Given the description of an element on the screen output the (x, y) to click on. 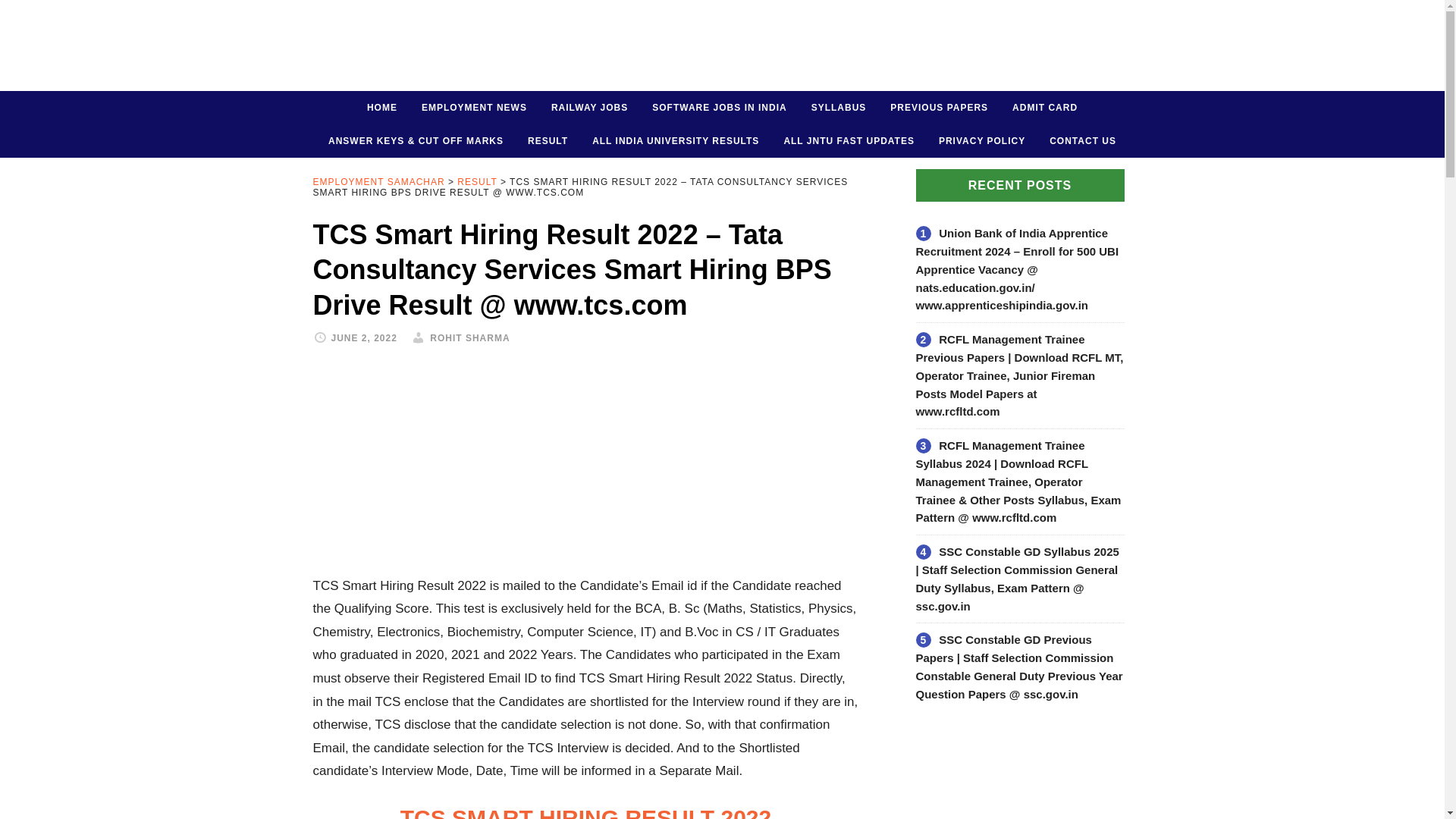
HOME (382, 107)
SYLLABUS (839, 107)
RESULT (547, 141)
SOFTWARE JOBS IN INDIA (718, 107)
Go to the Result category archives. (476, 181)
CONTACT US (1082, 141)
PREVIOUS PAPERS (938, 107)
RESULT (476, 181)
EMPLOYMENT NEWS (473, 107)
PRIVACY POLICY (981, 141)
